Given the description of an element on the screen output the (x, y) to click on. 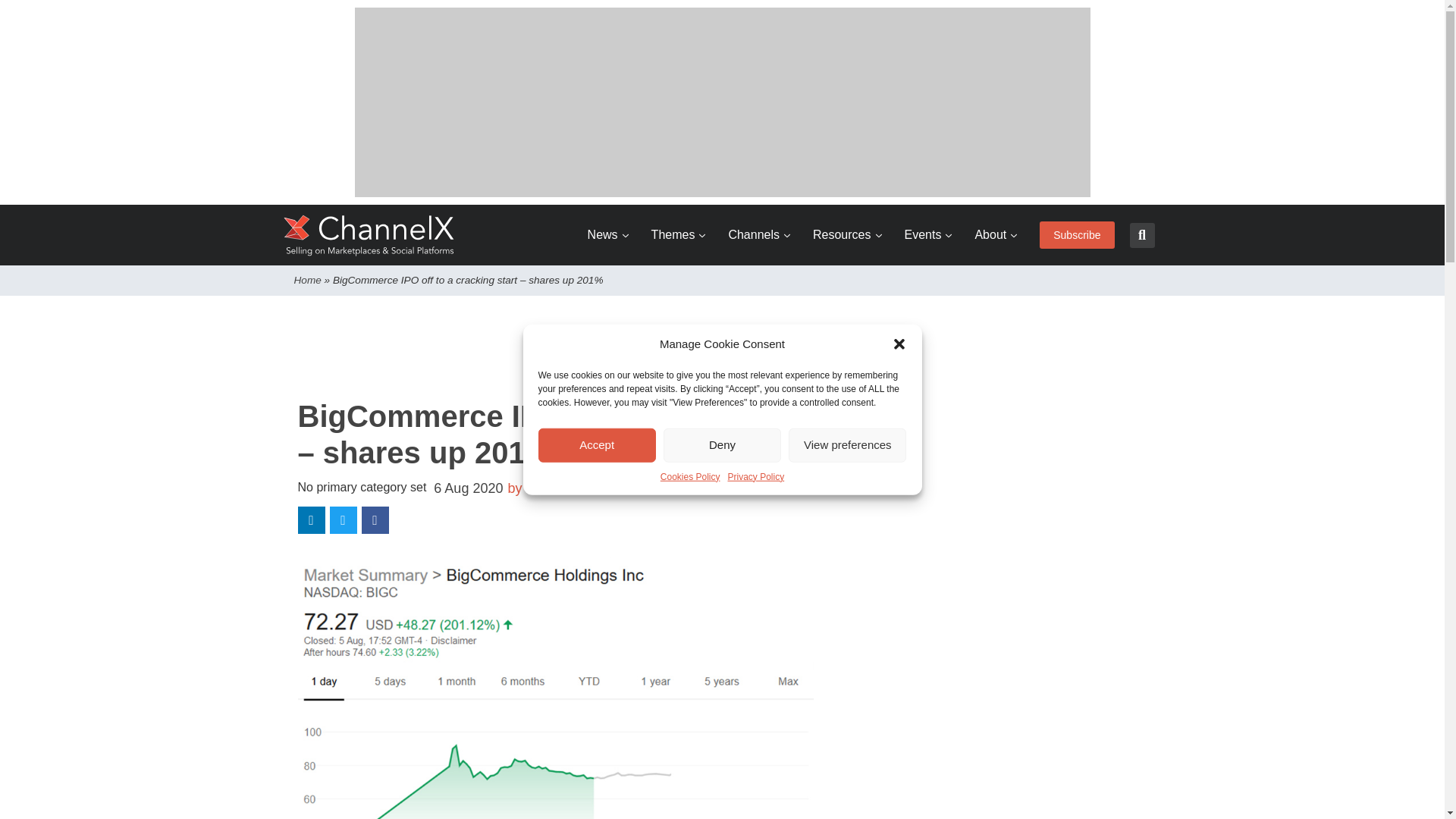
View preferences (847, 444)
Accept (597, 444)
Privacy Policy (756, 476)
Deny (721, 444)
Themes (678, 234)
News (607, 234)
Cookies Policy (690, 476)
ChannelX Home Page (369, 234)
Channels (758, 234)
